Given the description of an element on the screen output the (x, y) to click on. 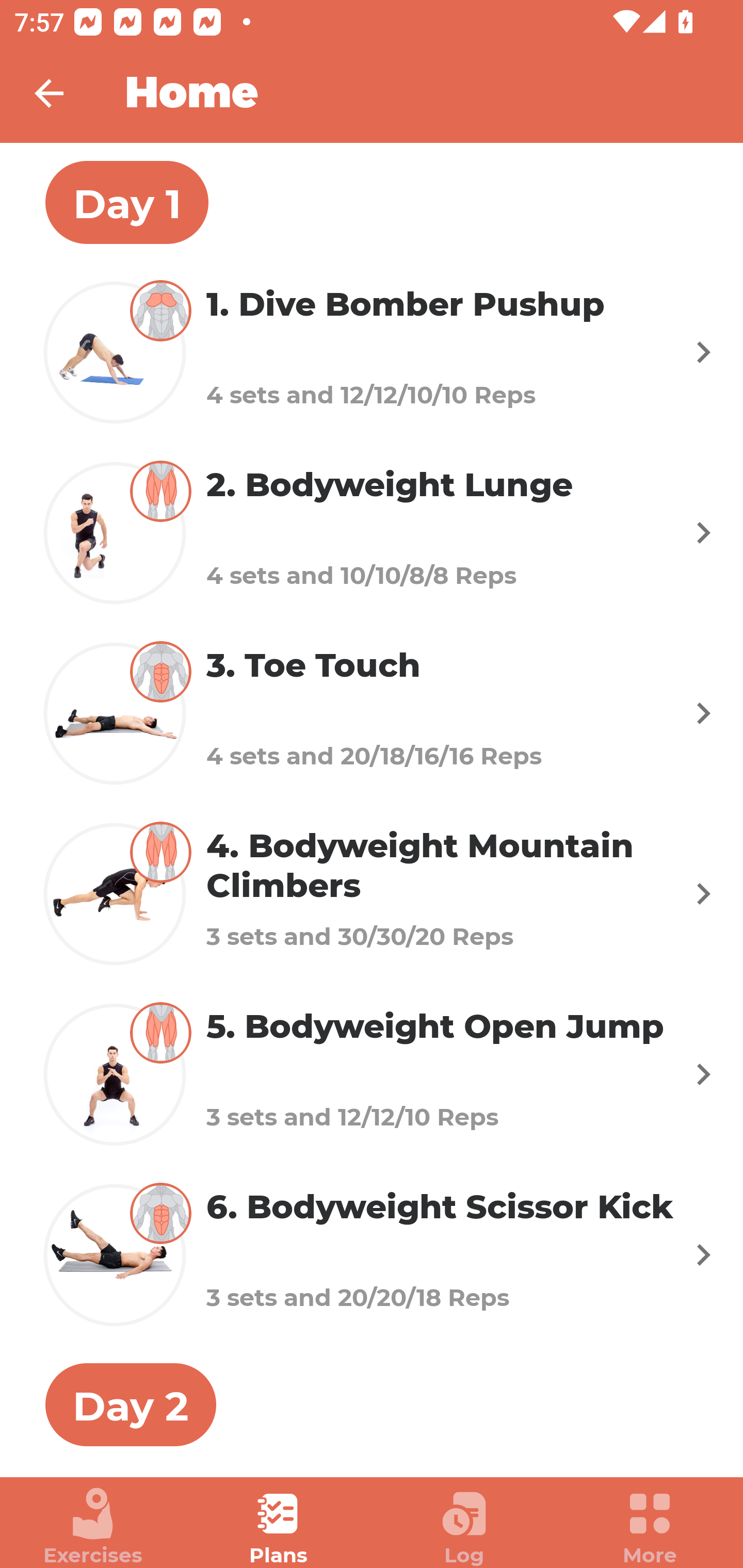
Back (62, 92)
1. Dive Bomber Pushup 4 sets and 12/12/10/10 Reps (371, 351)
2. Bodyweight Lunge 4 sets and 10/10/8/8 Reps (371, 532)
3. Toe Touch 4 sets and 20/18/16/16 Reps (371, 712)
5. Bodyweight Open Jump 3 sets and 12/12/10 Reps (371, 1074)
Exercises (92, 1527)
Plans (278, 1527)
Log (464, 1527)
More (650, 1527)
